Given the description of an element on the screen output the (x, y) to click on. 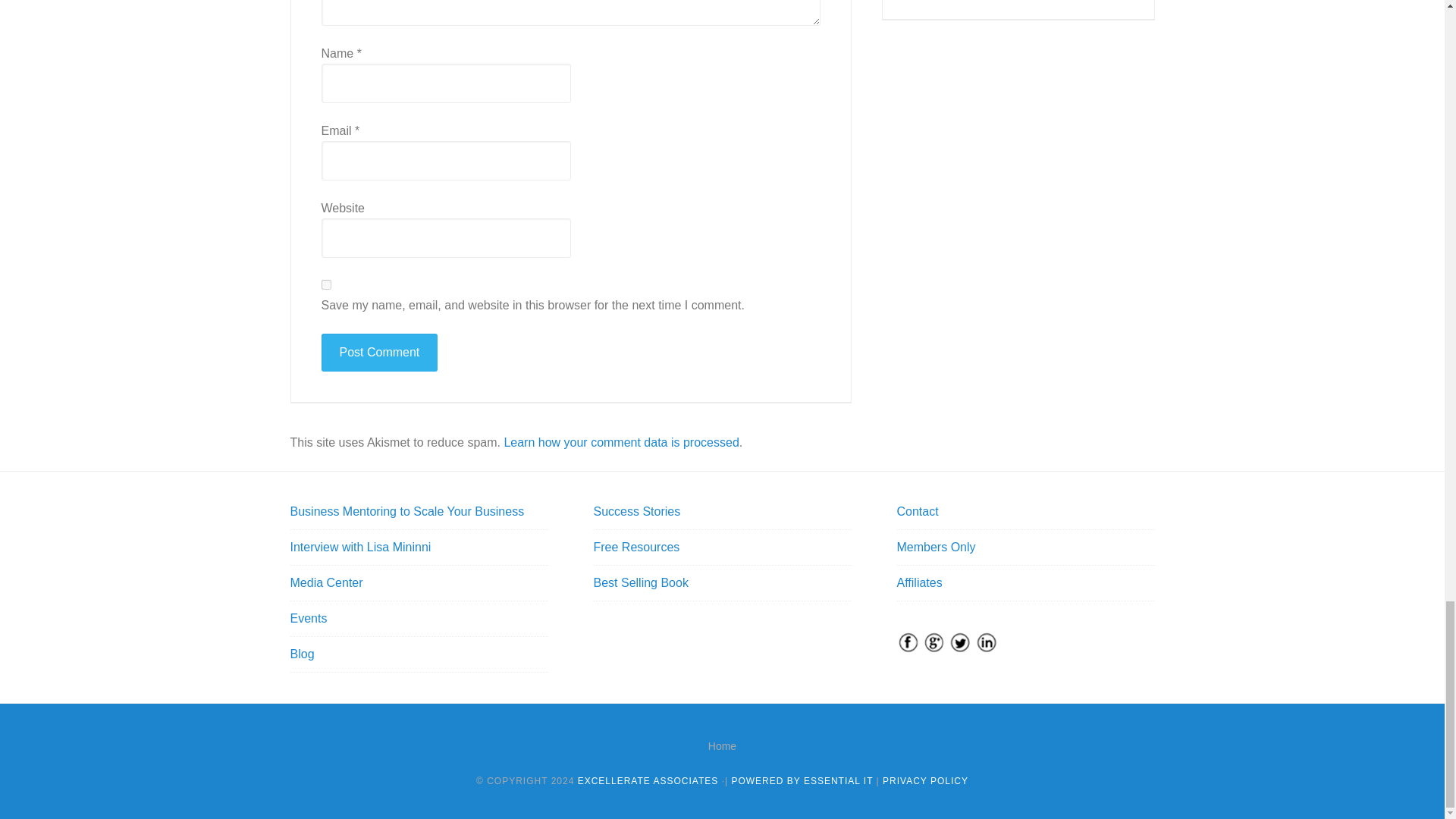
Post Comment (379, 352)
yes (326, 284)
